Given the description of an element on the screen output the (x, y) to click on. 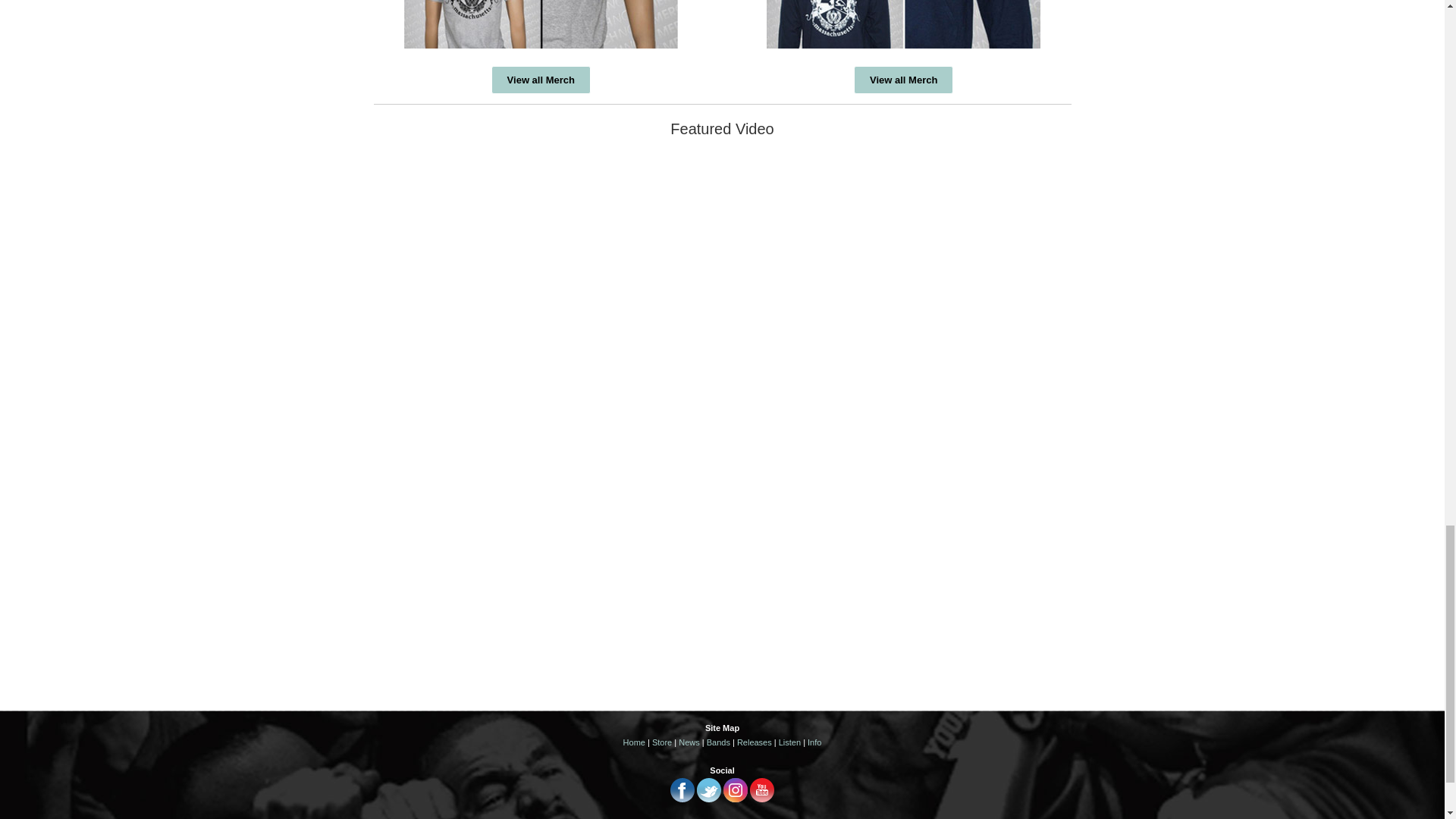
Home (634, 741)
Store (661, 741)
News (689, 741)
Facebook (681, 798)
View all Merch (541, 80)
View all Merch (903, 80)
Releases (753, 741)
Bands (718, 741)
View all Merch (541, 80)
Info (814, 741)
